Given the description of an element on the screen output the (x, y) to click on. 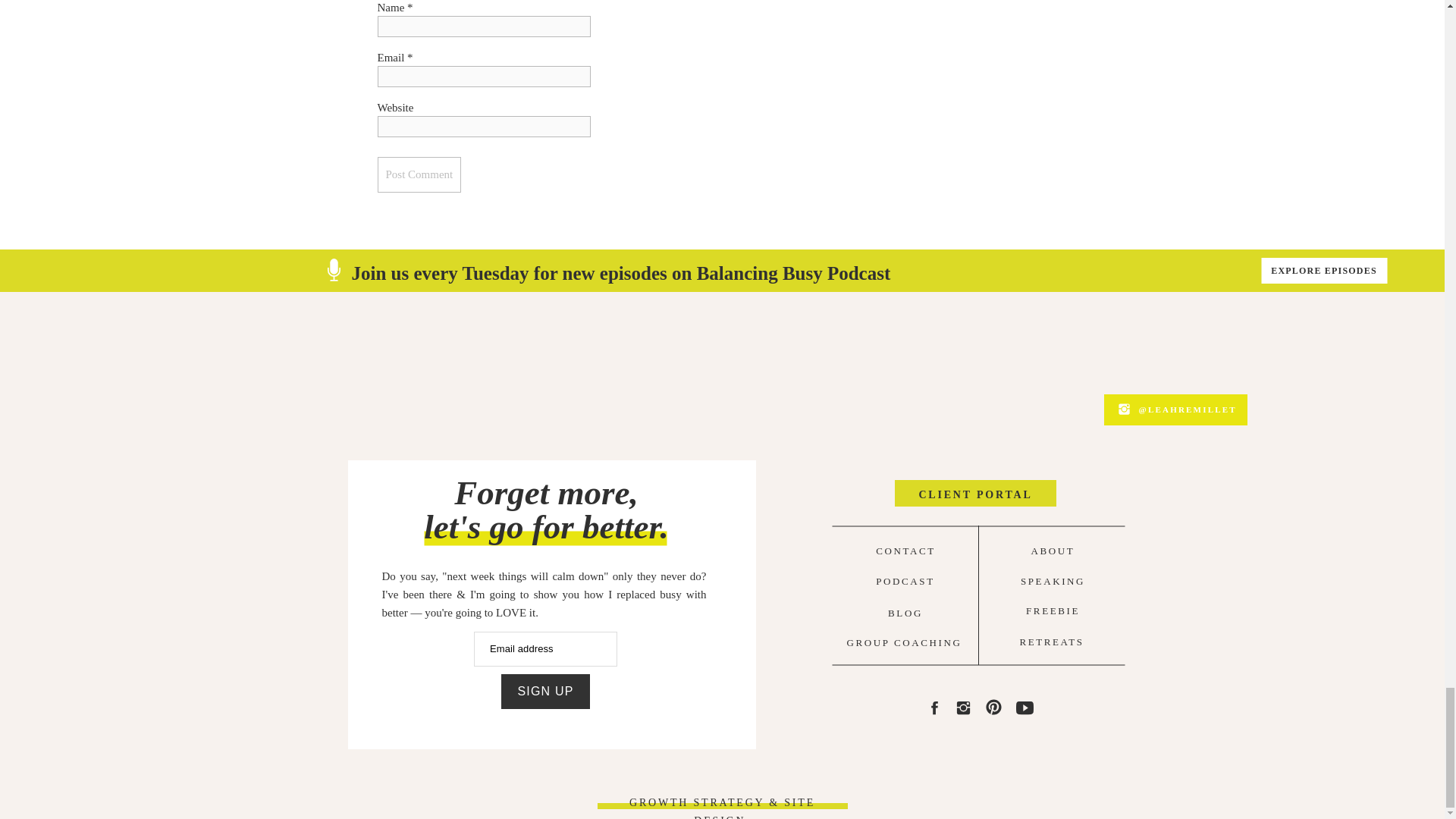
Post Comment (419, 175)
